Given the description of an element on the screen output the (x, y) to click on. 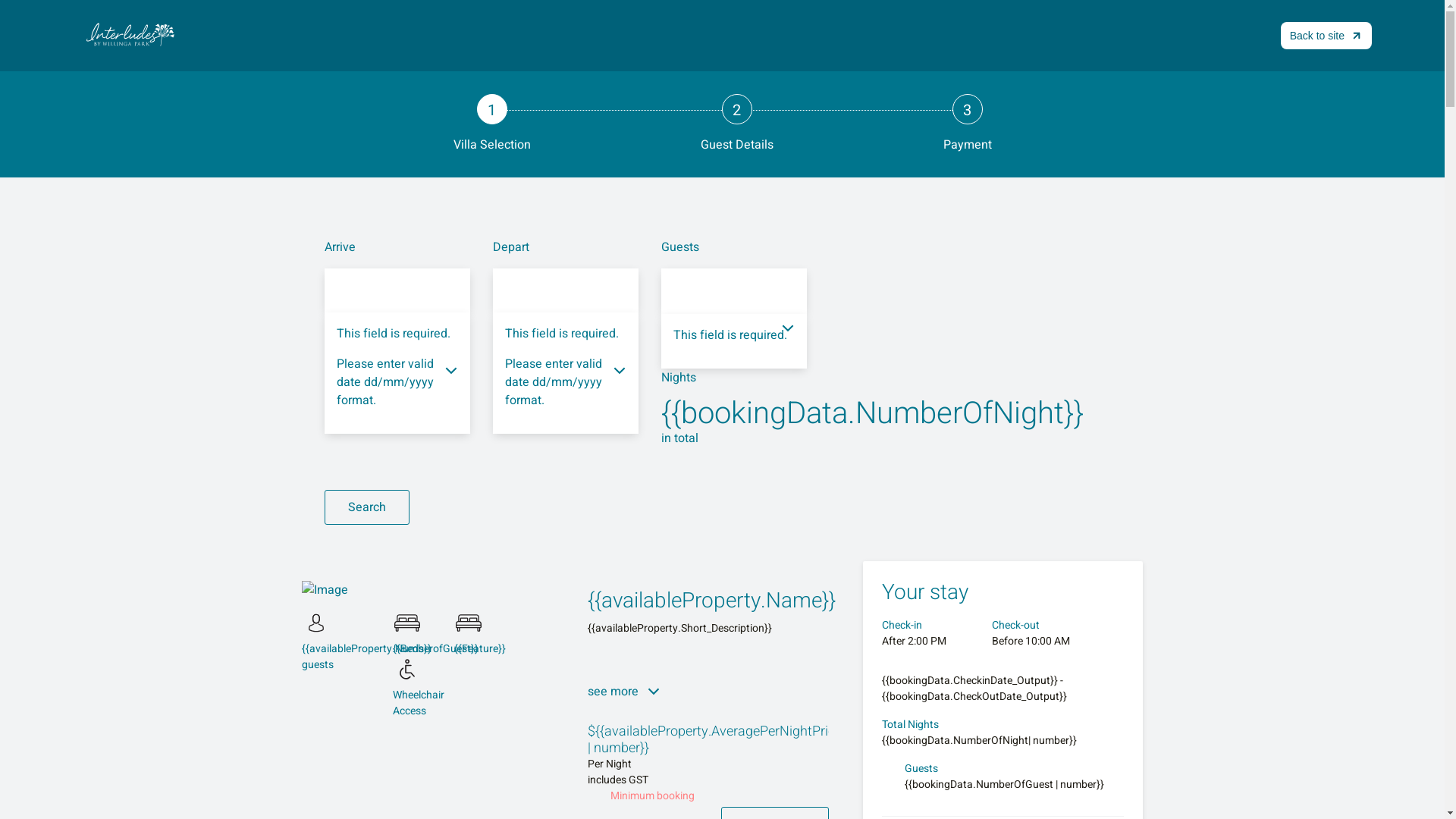
Back to site Element type: text (1325, 35)
Search Element type: text (366, 506)
see more Element type: text (624, 691)
